Given the description of an element on the screen output the (x, y) to click on. 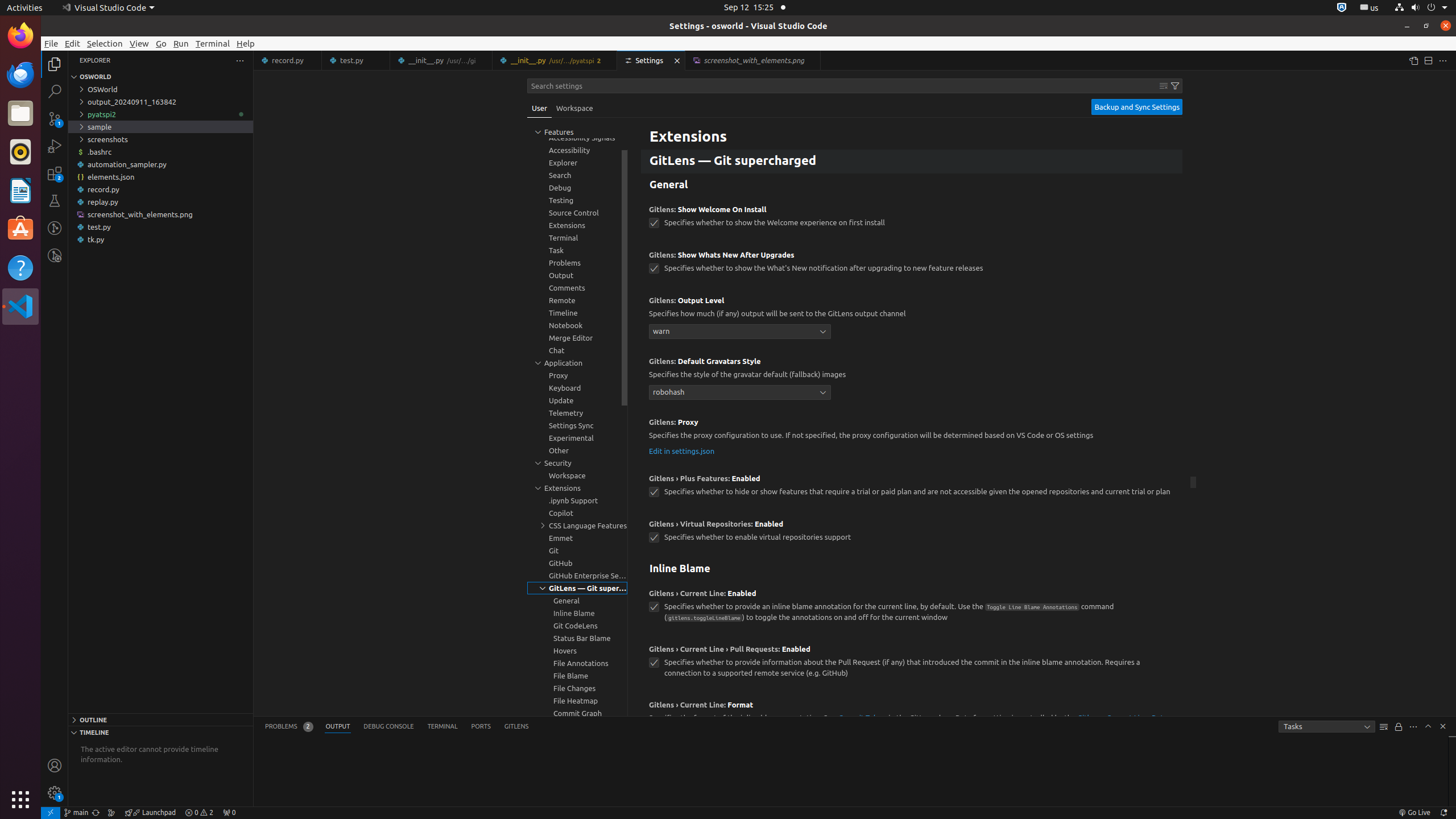
Emmet, group Element type: tree-item (577, 537)
Gitlens › Current Line Enabled. Specifies whether to provide an inline blame annotation for the current line, by default. Use the Toggle Line Blame Annotations command (gitlens.toggleLineBlame) to toggle the annotations on and off for the current window  Element type: tree-item (911, 609)
Source Control (Ctrl+Shift+G G) - 1 pending changes Source Control (Ctrl+Shift+G G) - 1 pending changes Element type: page-tab (54, 118)
tk.py Element type: tree-item (160, 239)
